Given the description of an element on the screen output the (x, y) to click on. 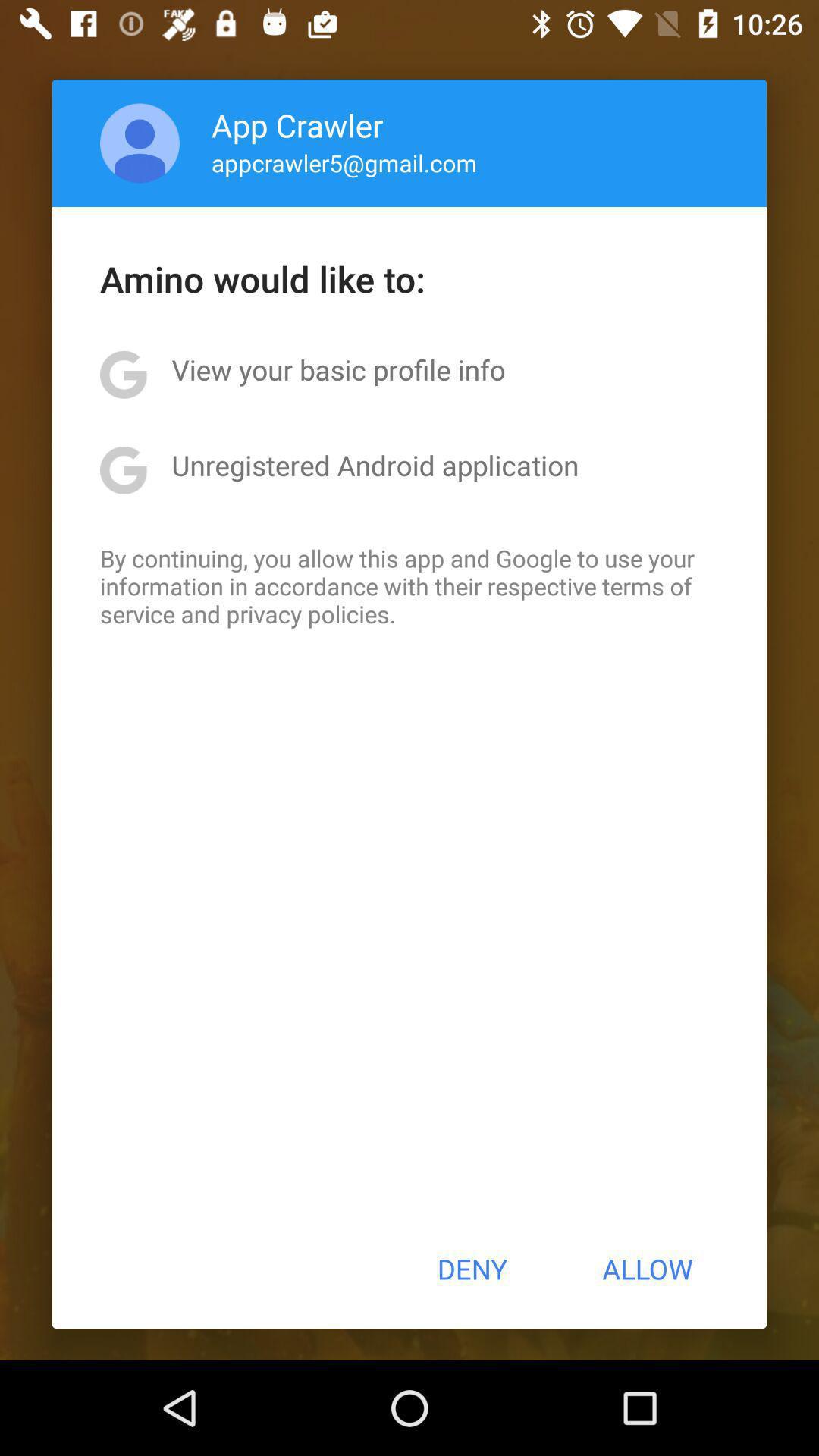
flip until the deny button (471, 1268)
